Given the description of an element on the screen output the (x, y) to click on. 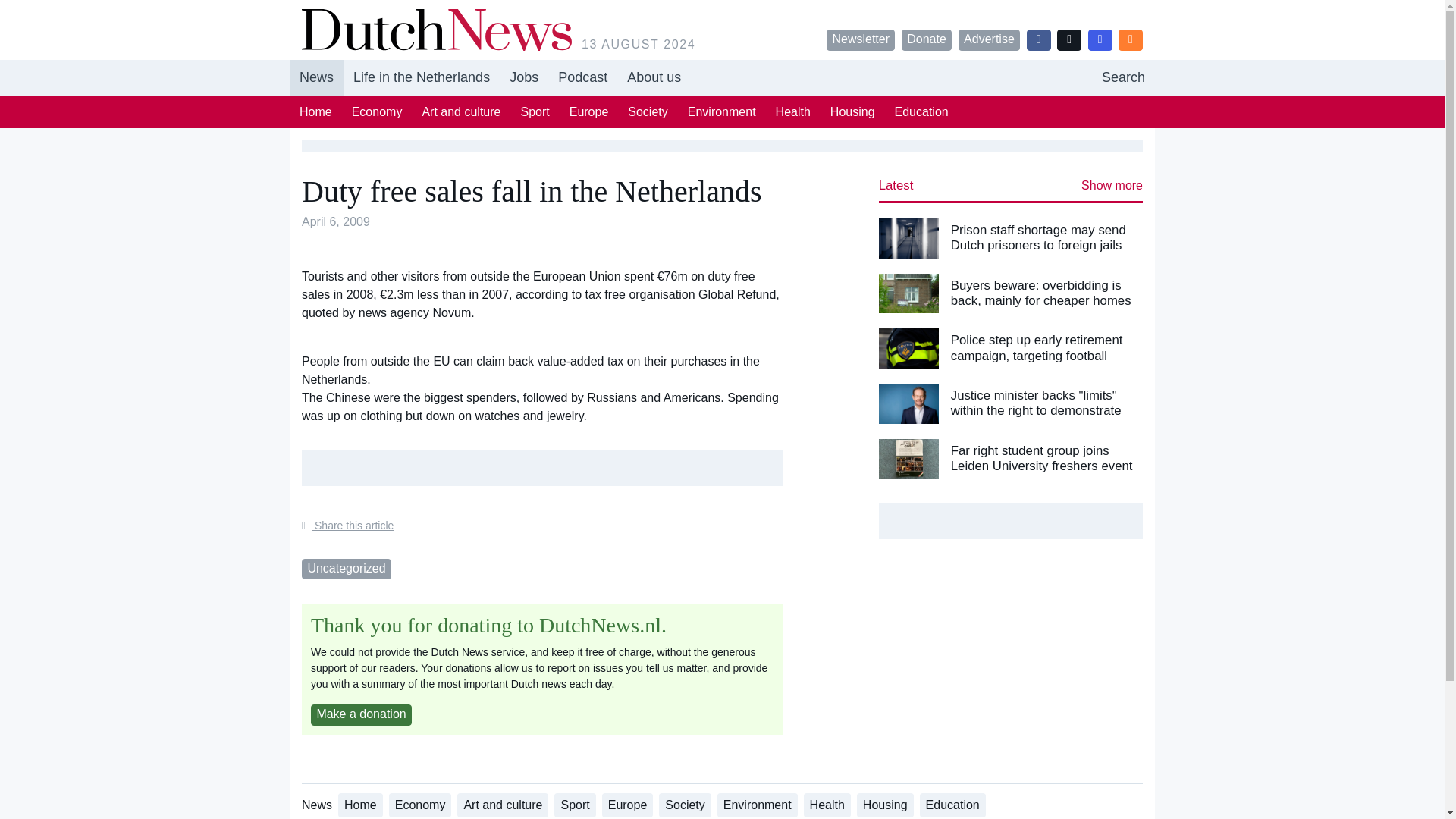
Art and culture (461, 111)
Economy (377, 111)
News (316, 77)
hidden-in-footer (582, 77)
Housing (853, 111)
Advertise (989, 39)
hidden-in-footer (523, 77)
Health (793, 111)
Search (1123, 77)
